Given the description of an element on the screen output the (x, y) to click on. 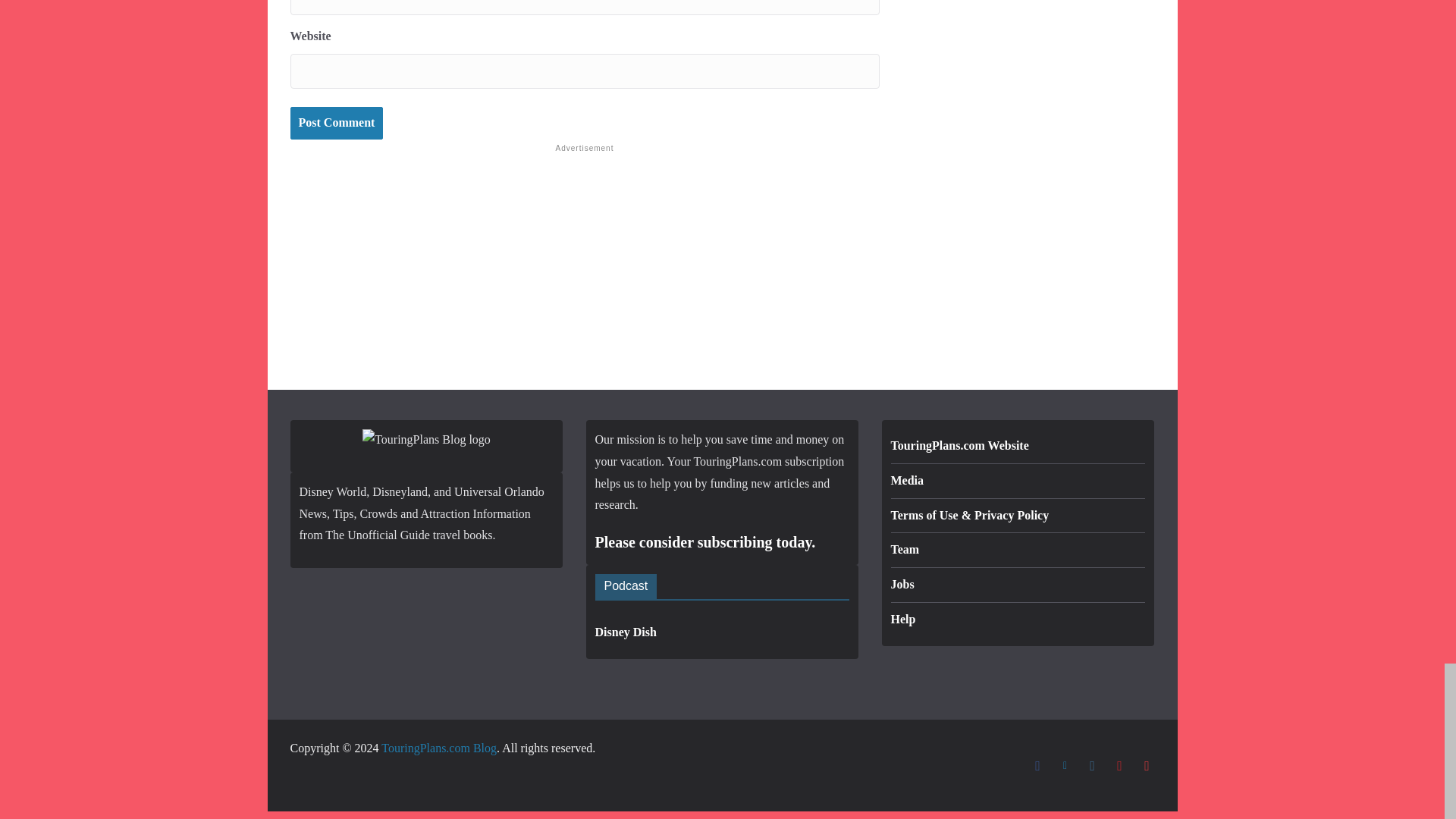
Post Comment (335, 123)
TouringPlans.com Blog (438, 748)
